Given the description of an element on the screen output the (x, y) to click on. 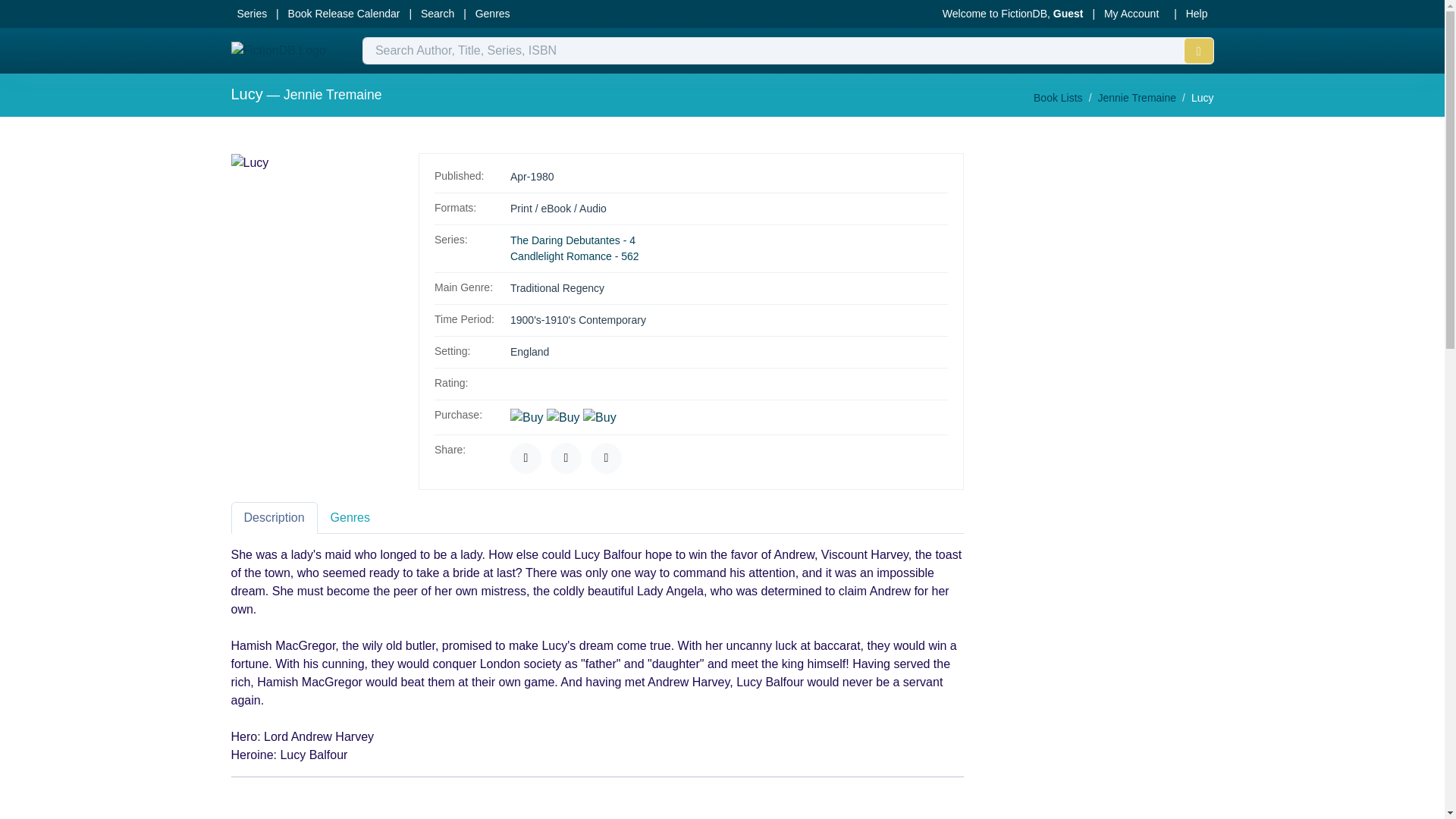
My Account (1130, 13)
Genres (492, 13)
Book Release Calendar (344, 13)
Series (251, 13)
Help (1196, 13)
The Daring Debutantes - 4 (572, 240)
Buy This Book Now (527, 417)
Book Lists (1058, 96)
Jennie Tremaine (332, 94)
Jennie Tremaine (1136, 96)
